Given the description of an element on the screen output the (x, y) to click on. 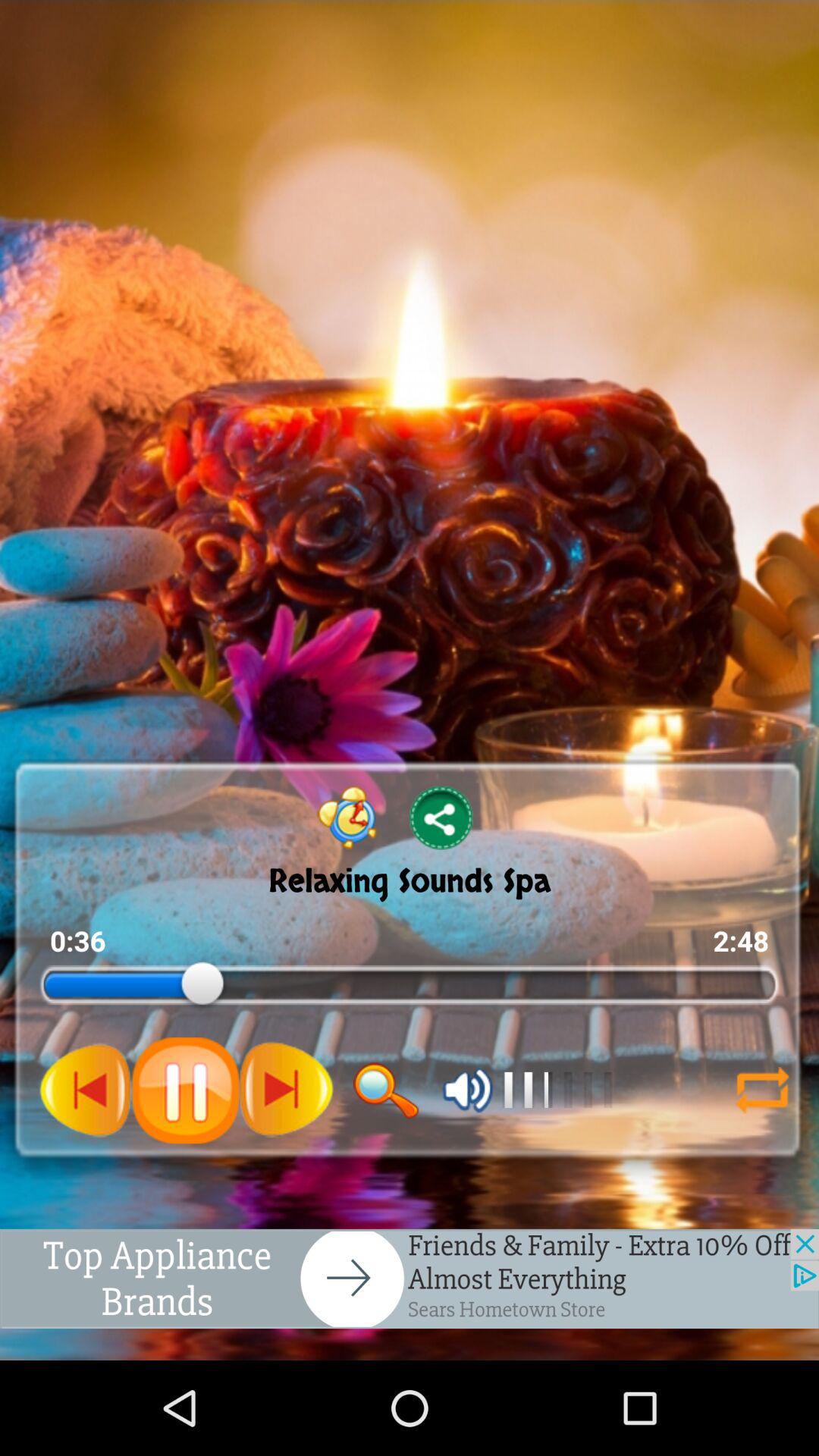
go back option (85, 1090)
